Given the description of an element on the screen output the (x, y) to click on. 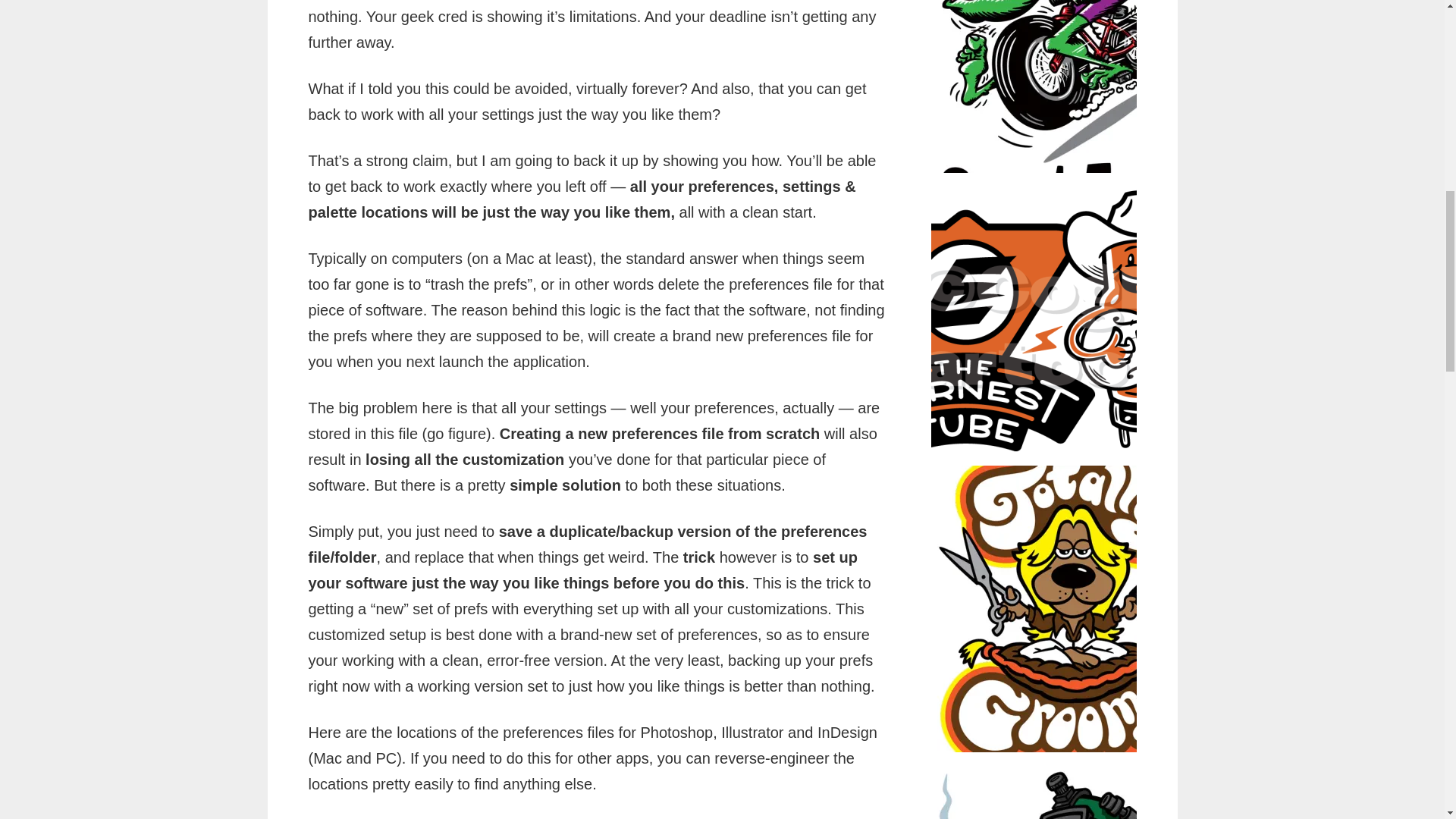
Token-Gaming-cartoon-logo (1074, 787)
totally-groomy-logo-coghill (1074, 609)
earnest-tube-retro-cartoon-logo-lg (1074, 319)
fat-tire-speed-freak-coghill (1074, 86)
